Given the description of an element on the screen output the (x, y) to click on. 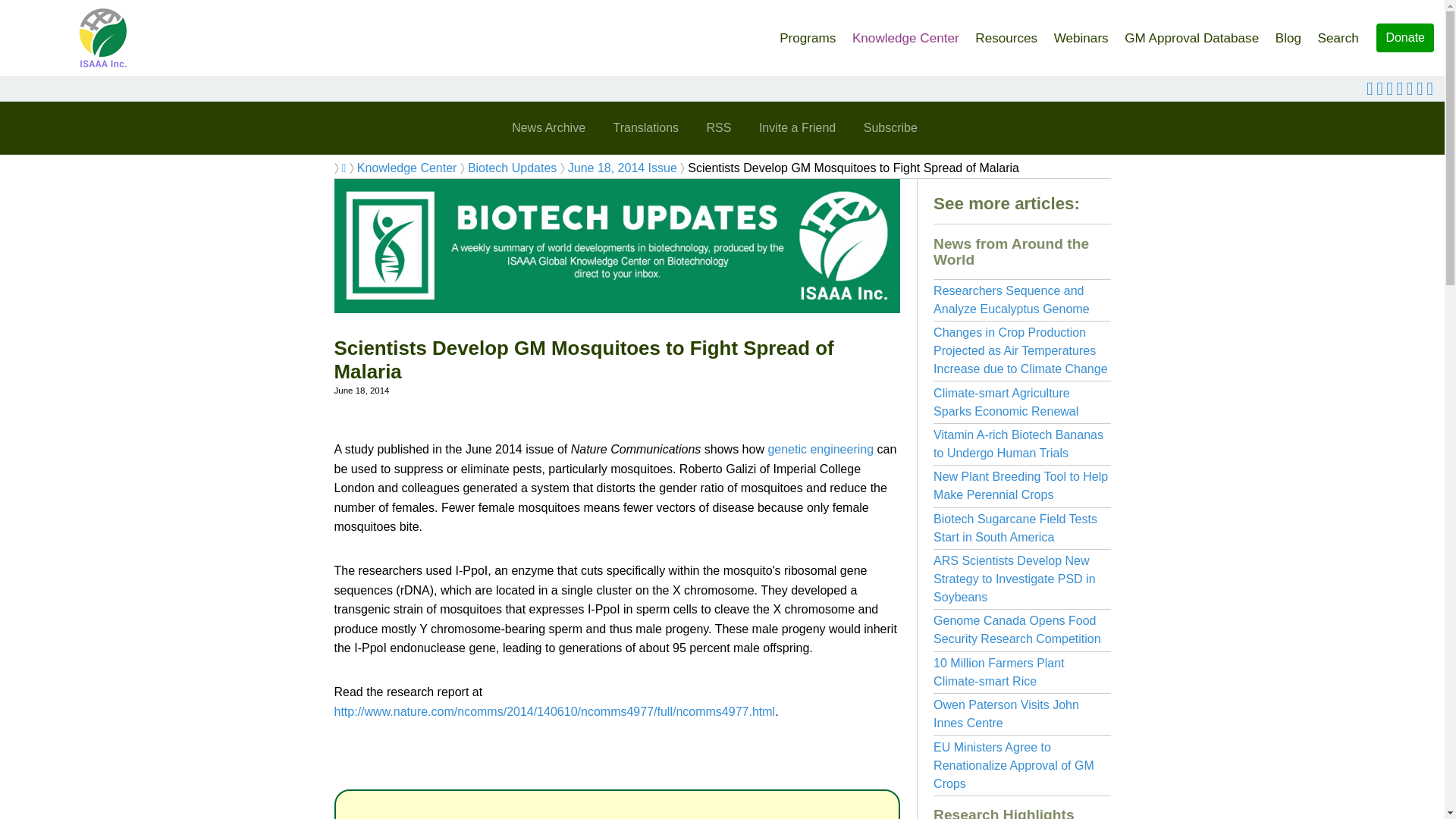
Resources (1005, 32)
Subscribe (890, 127)
Knowledge Center (905, 32)
Biotech Updates (511, 167)
Vitamin A-rich Biotech Bananas to Undergo Human Trials (1018, 443)
RSS (719, 127)
Climate-smart Agriculture Sparks Economic Renewal (1005, 401)
New Plant Breeding Tool to Help Make Perennial Crops (1020, 485)
Owen Paterson Visits John Innes Centre (1005, 713)
Knowledge Center (406, 167)
News Archive (547, 127)
Translations (644, 127)
10 Million Farmers Plant Climate-smart Rice (998, 671)
June 18, 2014 Issue (622, 167)
genetic engineering (820, 449)
